Given the description of an element on the screen output the (x, y) to click on. 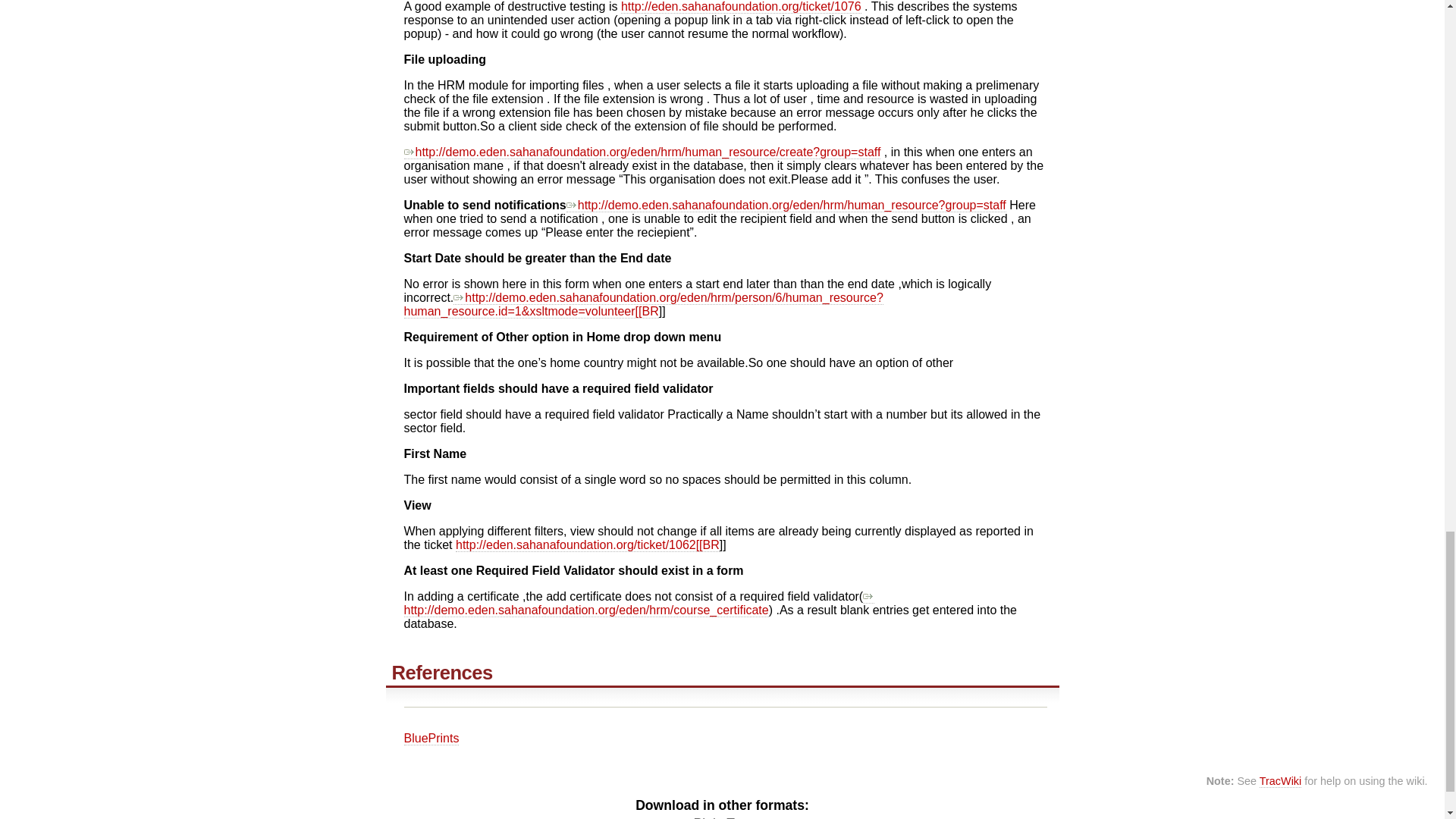
BluePrints (430, 738)
